Given the description of an element on the screen output the (x, y) to click on. 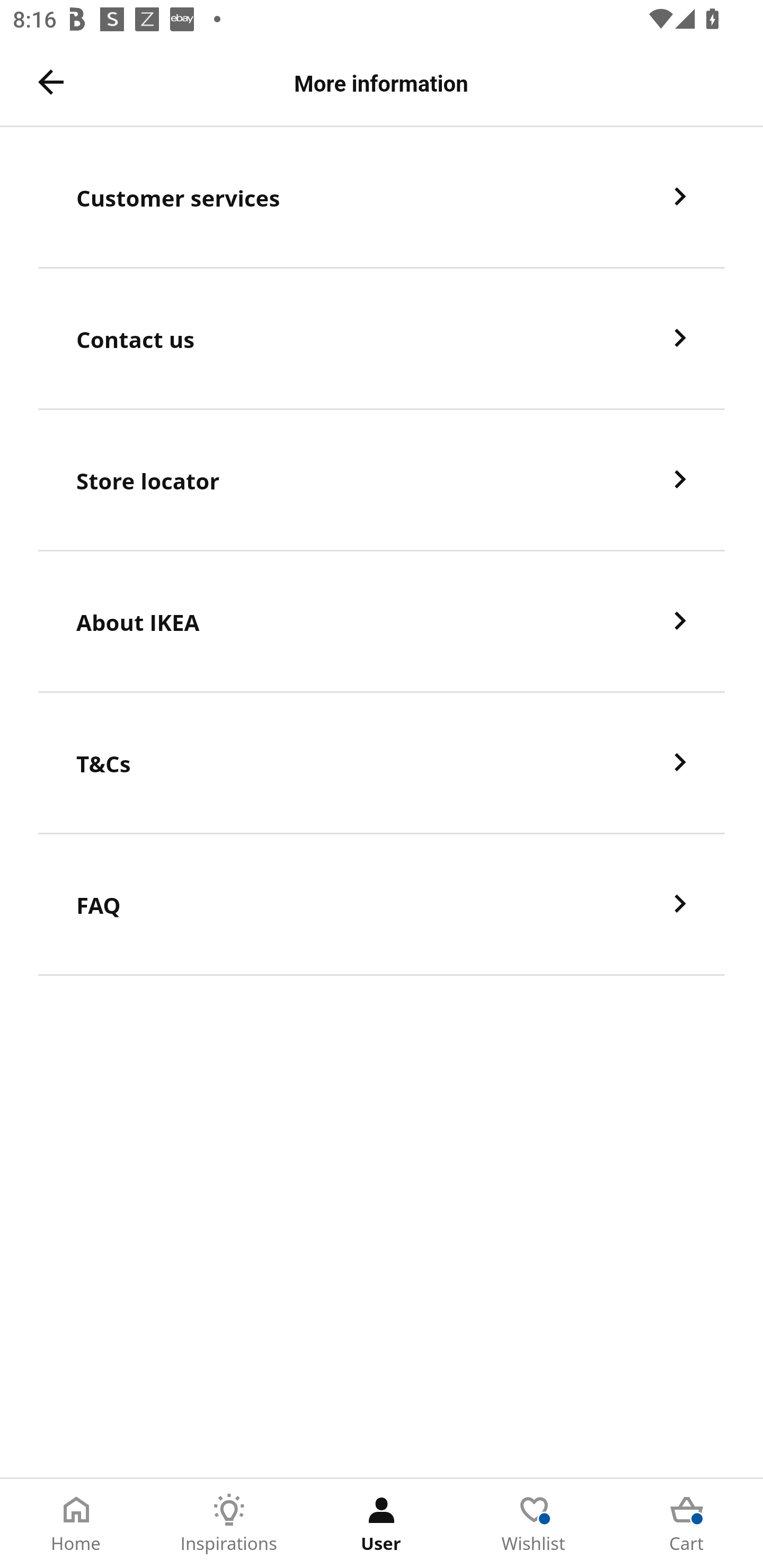
Customer services (381, 197)
Contact us (381, 338)
Store locator (381, 480)
About IKEA (381, 622)
T&Cs (381, 763)
FAQ (381, 904)
Home
Tab 1 of 5 (76, 1522)
Inspirations
Tab 2 of 5 (228, 1522)
User
Tab 3 of 5 (381, 1522)
Wishlist
Tab 4 of 5 (533, 1522)
Cart
Tab 5 of 5 (686, 1522)
